Given the description of an element on the screen output the (x, y) to click on. 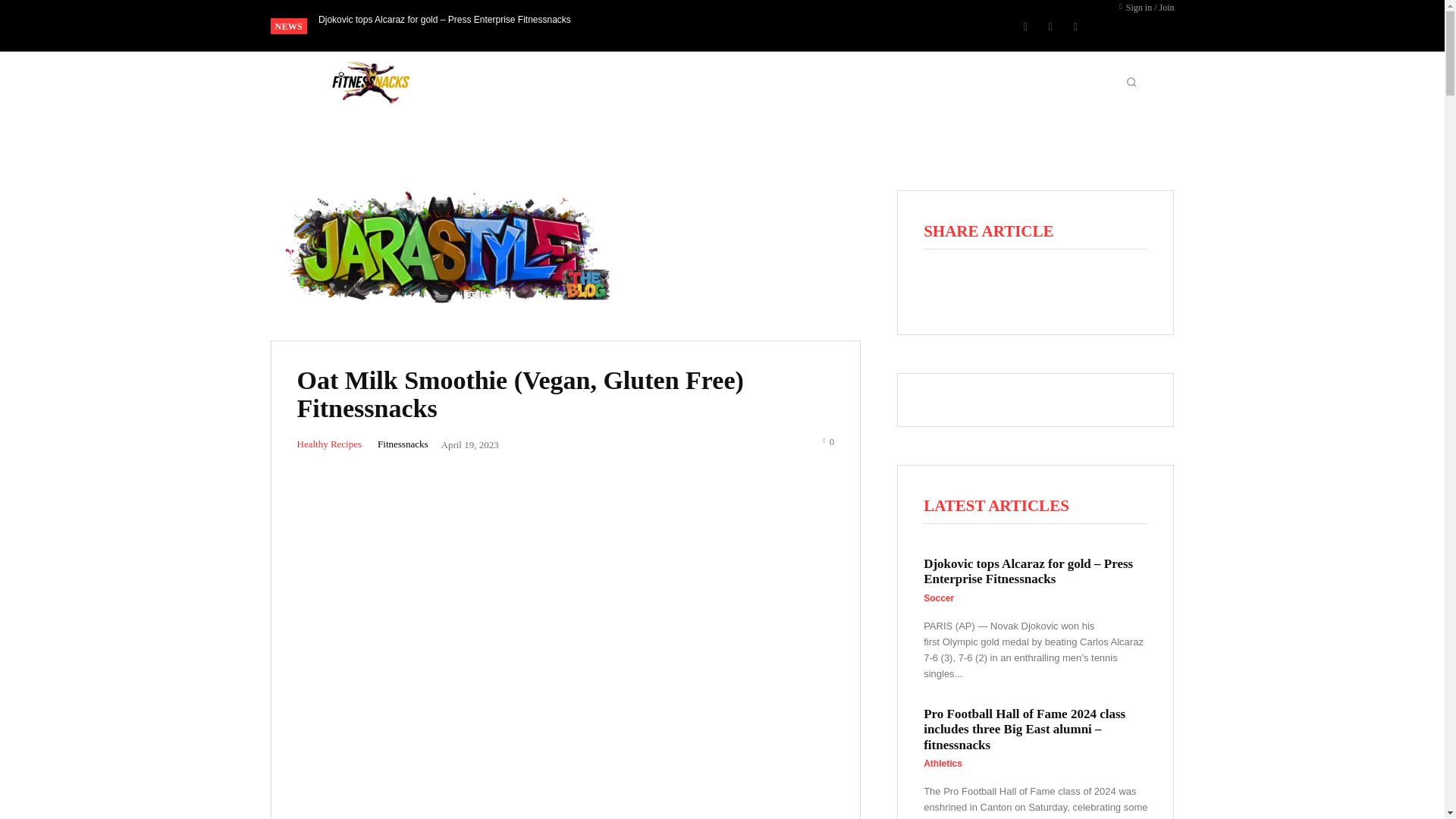
Facebook (1024, 25)
